Given the description of an element on the screen output the (x, y) to click on. 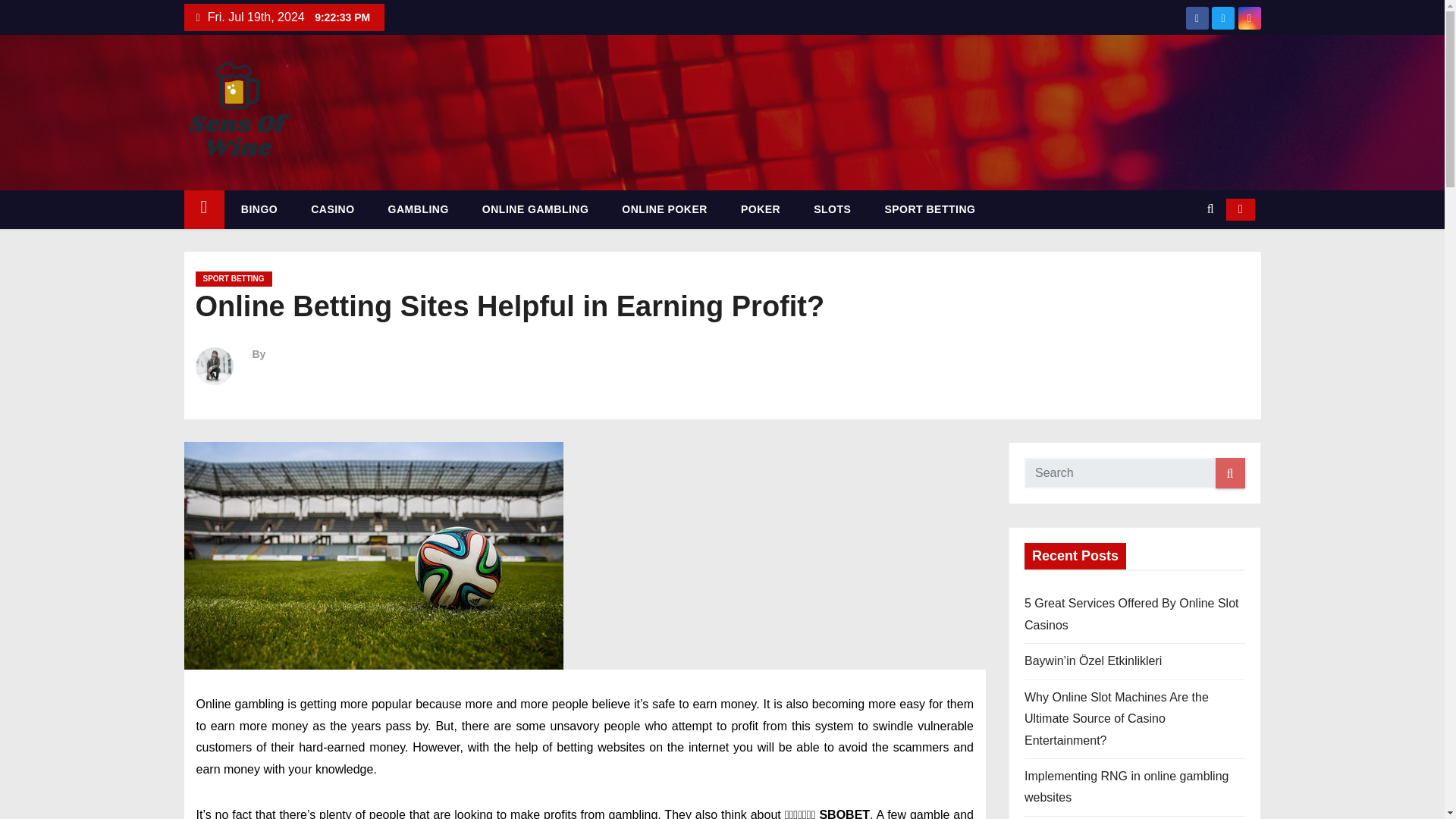
BINGO (259, 209)
CASINO (332, 209)
POKER (759, 209)
ONLINE POKER (664, 209)
Home (203, 209)
SPORT BETTING (233, 278)
SLOTS (831, 209)
ONLINE POKER (664, 209)
GAMBLING (418, 209)
BINGO (259, 209)
GAMBLING (418, 209)
ONLINE GAMBLING (535, 209)
POKER (759, 209)
SPORT BETTING (929, 209)
ONLINE GAMBLING (535, 209)
